Given the description of an element on the screen output the (x, y) to click on. 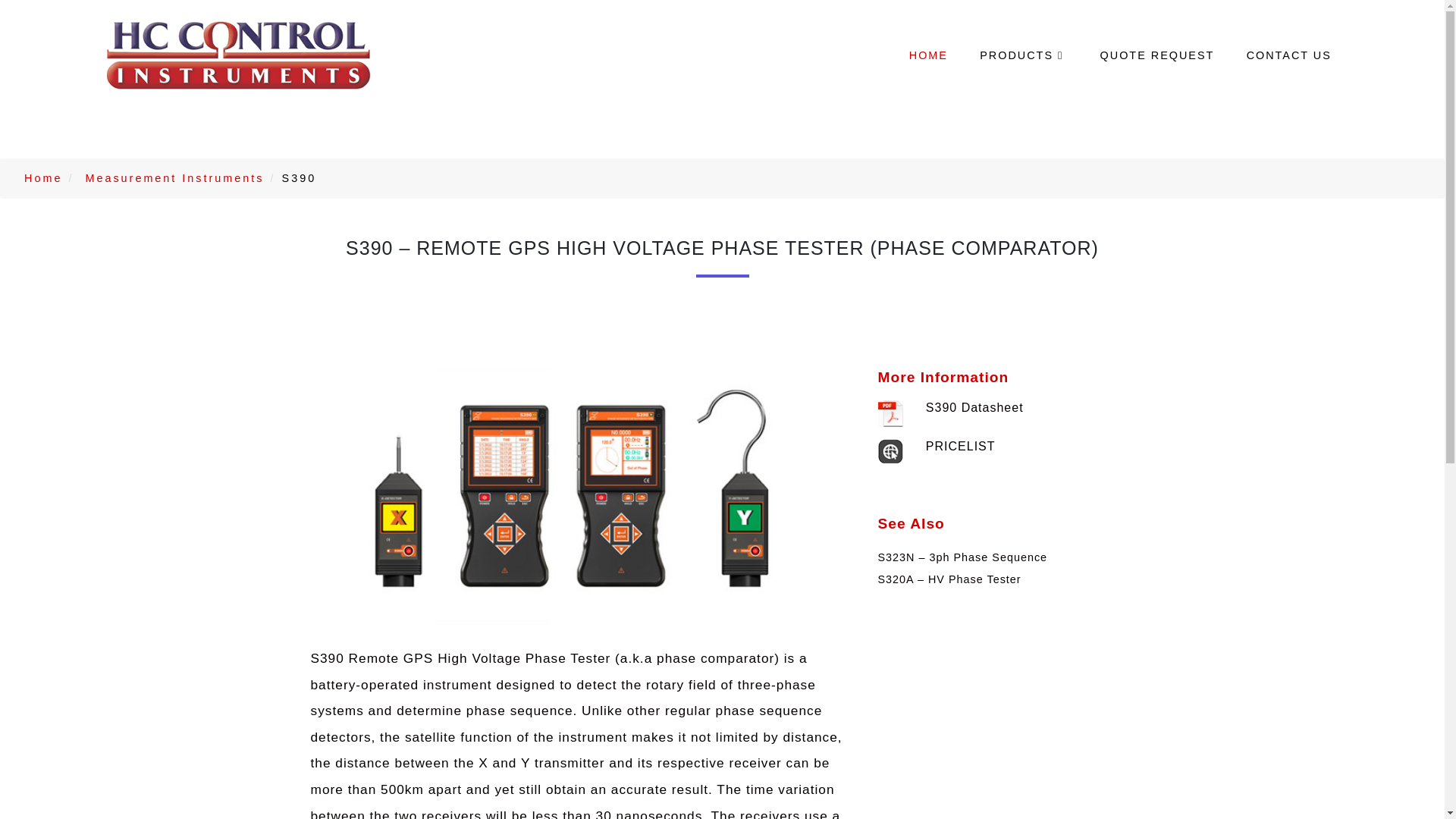
Measurement Instruments (173, 177)
Home (43, 177)
PRODUCTS (1023, 56)
More Information (943, 376)
HC Control - Specialists in High Voltage Test Equipment (237, 56)
PRICELIST (960, 445)
S390 Datasheet (974, 407)
QUOTE REQUEST (1156, 56)
CONTACT US (1288, 56)
See Also (910, 523)
